Given the description of an element on the screen output the (x, y) to click on. 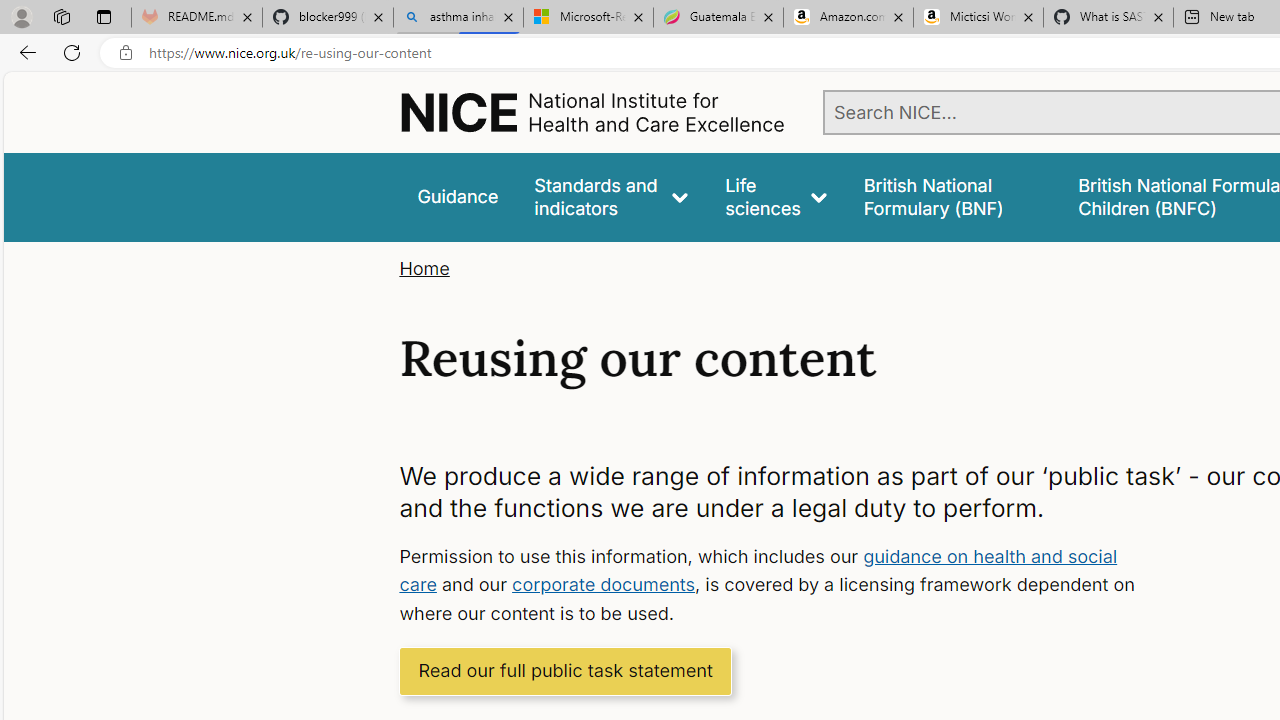
Read our full public task statement (565, 670)
corporate documents (604, 584)
